Given the description of an element on the screen output the (x, y) to click on. 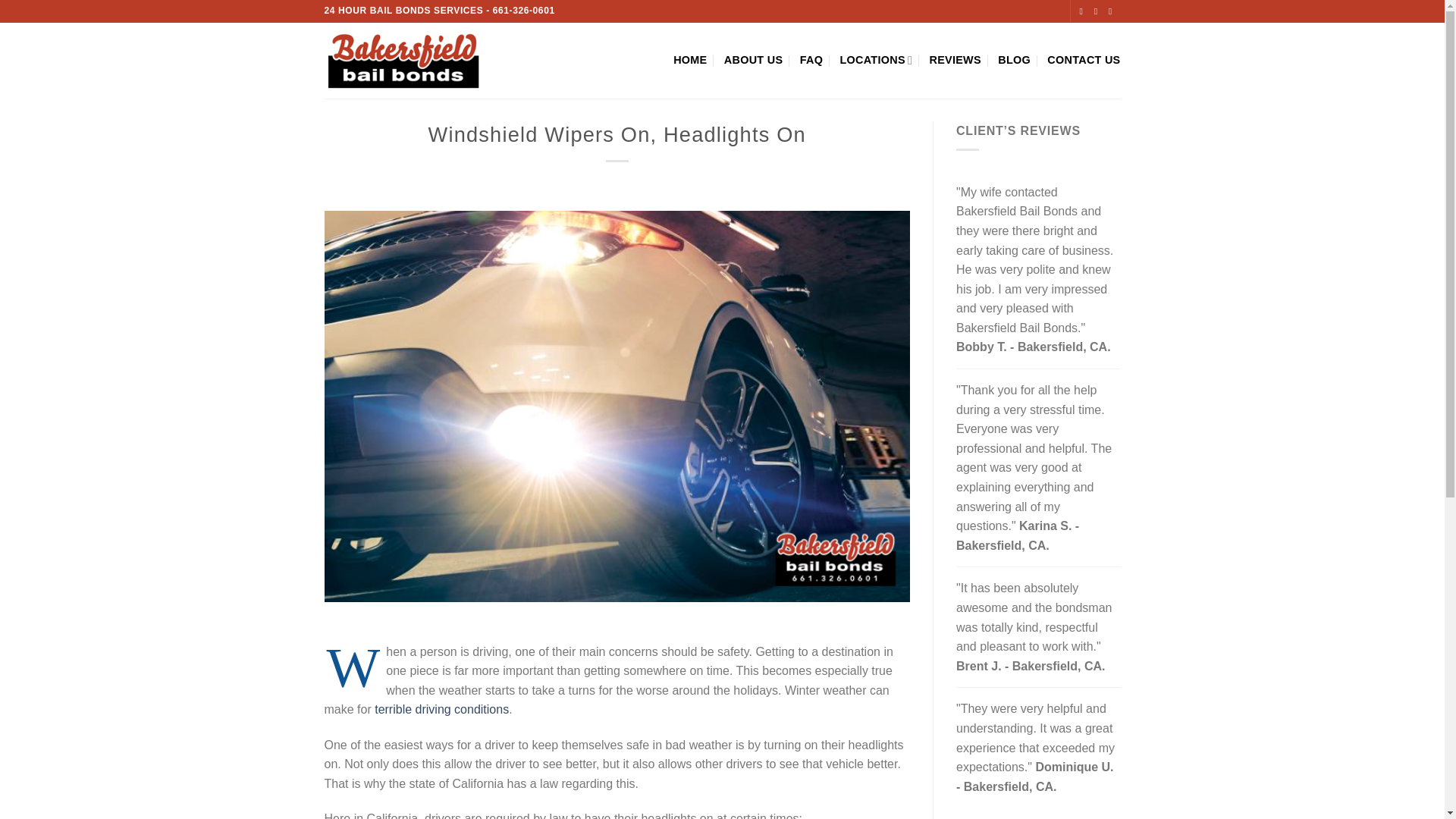
REVIEWS (953, 60)
HOME (689, 60)
ABOUT US (753, 60)
BLOG (1013, 60)
LOCATIONS (876, 60)
